Given the description of an element on the screen output the (x, y) to click on. 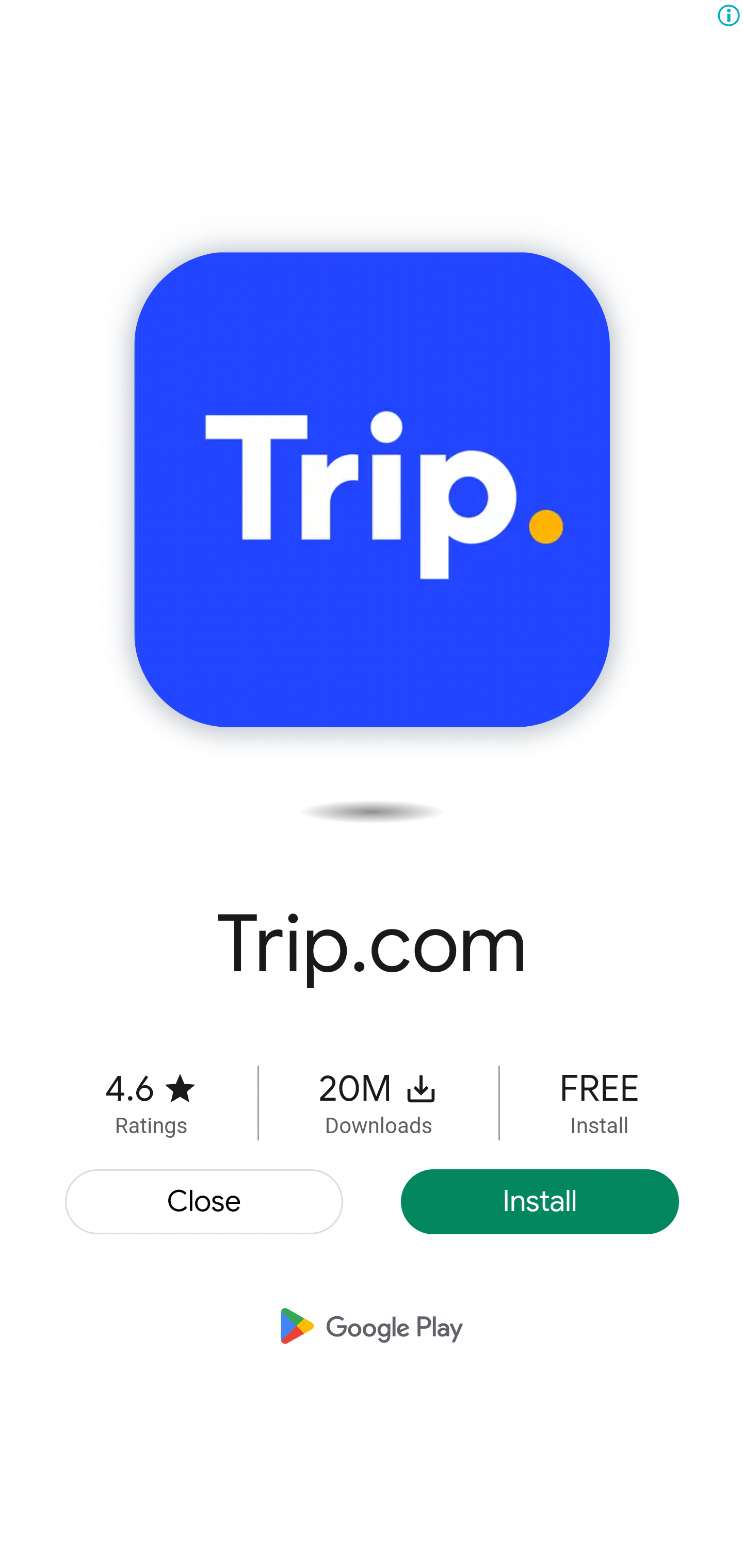
Close (204, 1201)
Install (539, 1201)
